Given the description of an element on the screen output the (x, y) to click on. 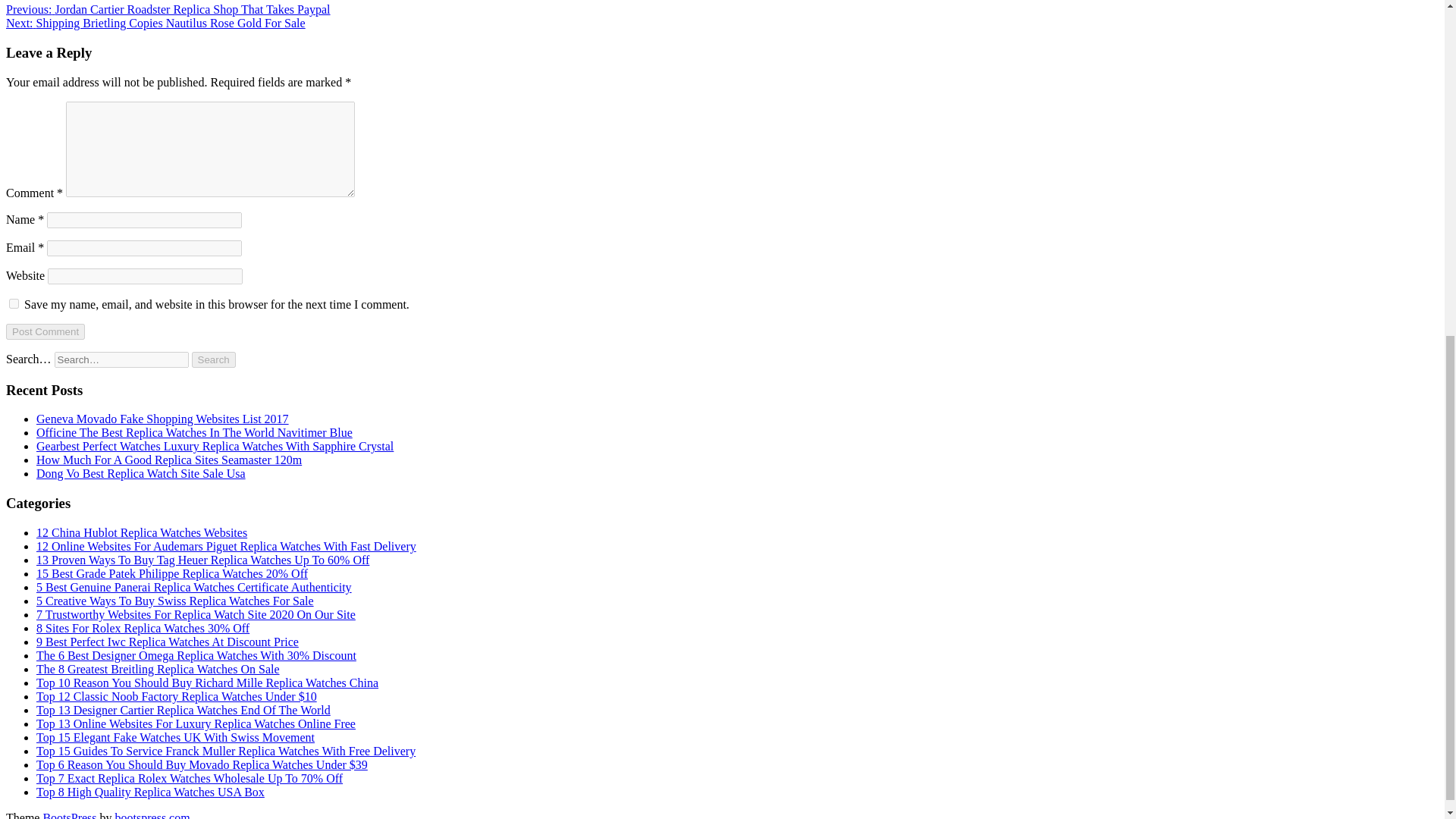
yes (13, 303)
Geneva Movado Fake Shopping Websites List 2017 (162, 418)
The 8 Greatest Breitling Replica Watches On Sale (157, 668)
Search (213, 359)
Post Comment (44, 331)
Next: Shipping Brietling Copies Nautilus Rose Gold For Sale (155, 22)
